Given the description of an element on the screen output the (x, y) to click on. 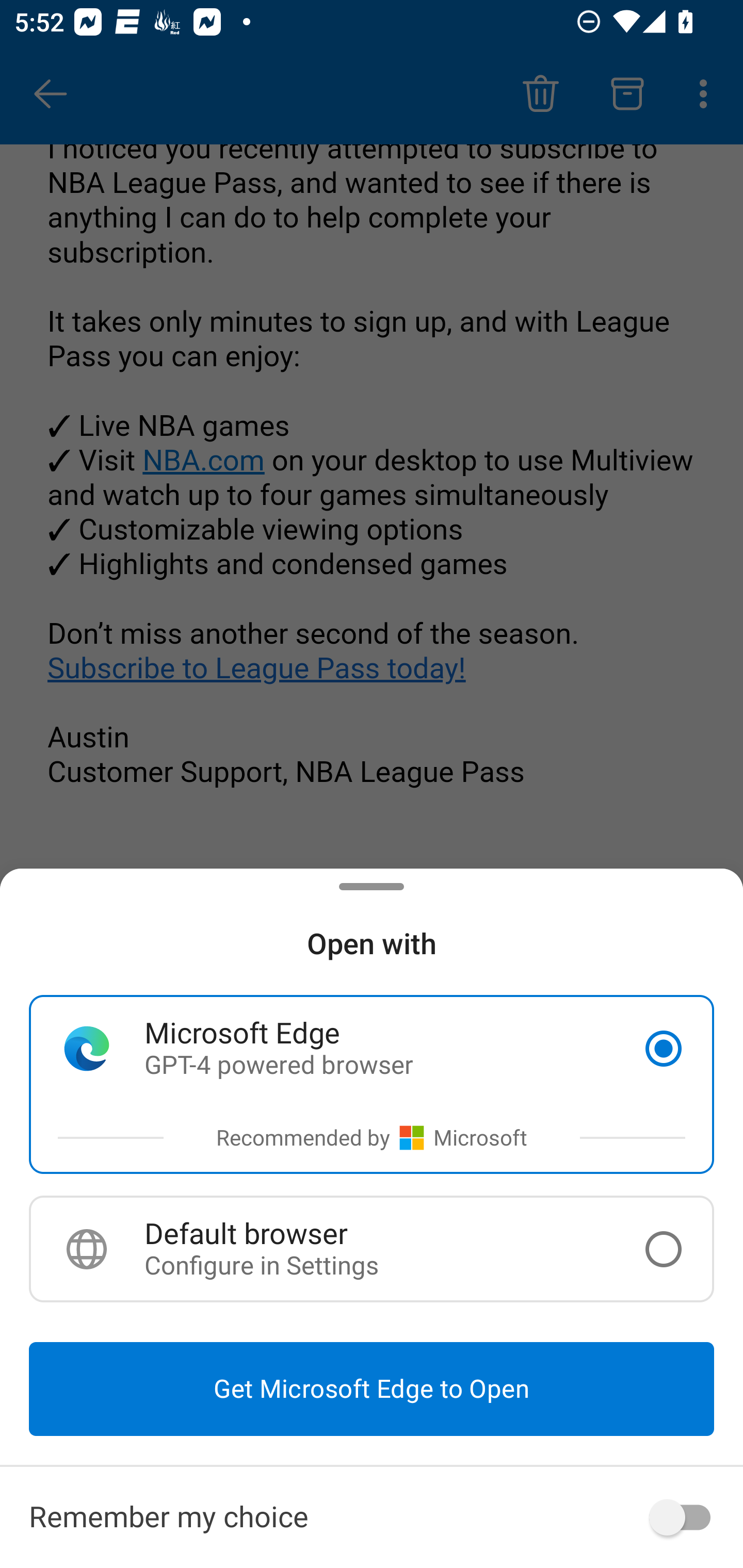
Default browser Configure in Settings (371, 1248)
Get Microsoft Edge to Open (371, 1389)
Remember my choice (371, 1517)
